Given the description of an element on the screen output the (x, y) to click on. 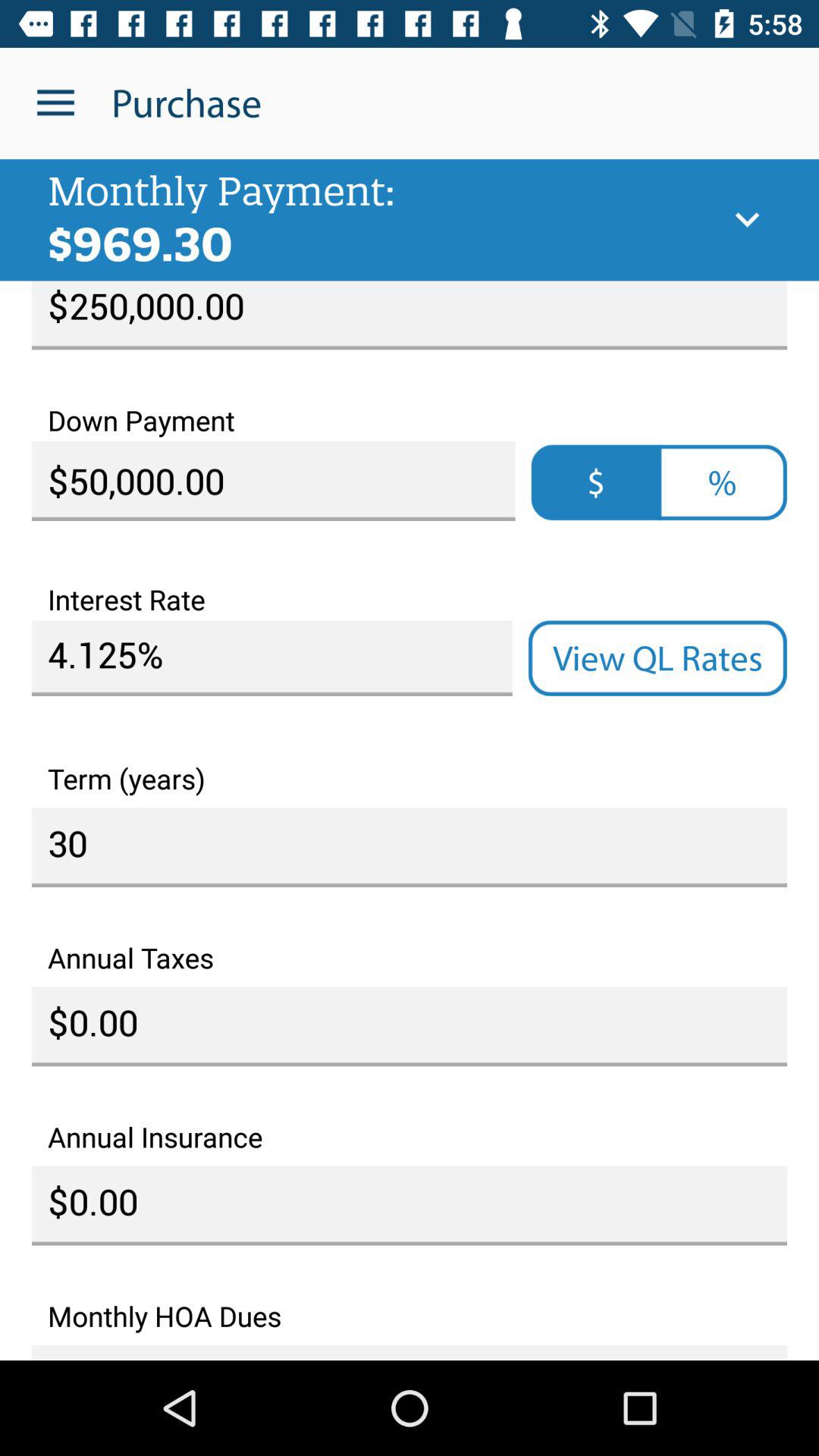
tap the icon above term (years) (657, 658)
